Given the description of an element on the screen output the (x, y) to click on. 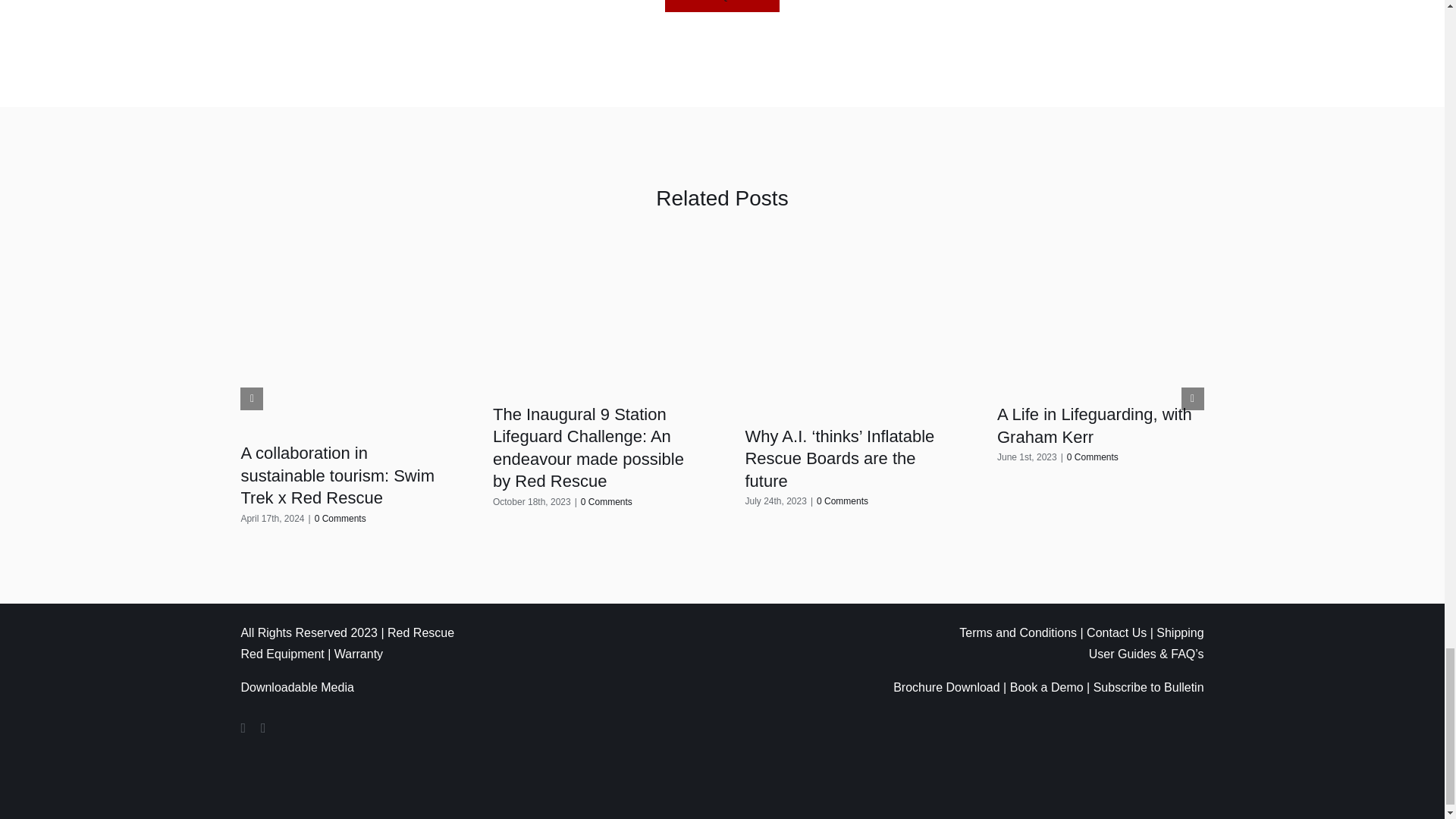
GET A QUOTE (722, 6)
0 Comments (340, 518)
0 Comments (605, 501)
0 Comments (841, 501)
A Life in Lifeguarding, with Graham Kerr (1094, 424)
